Given the description of an element on the screen output the (x, y) to click on. 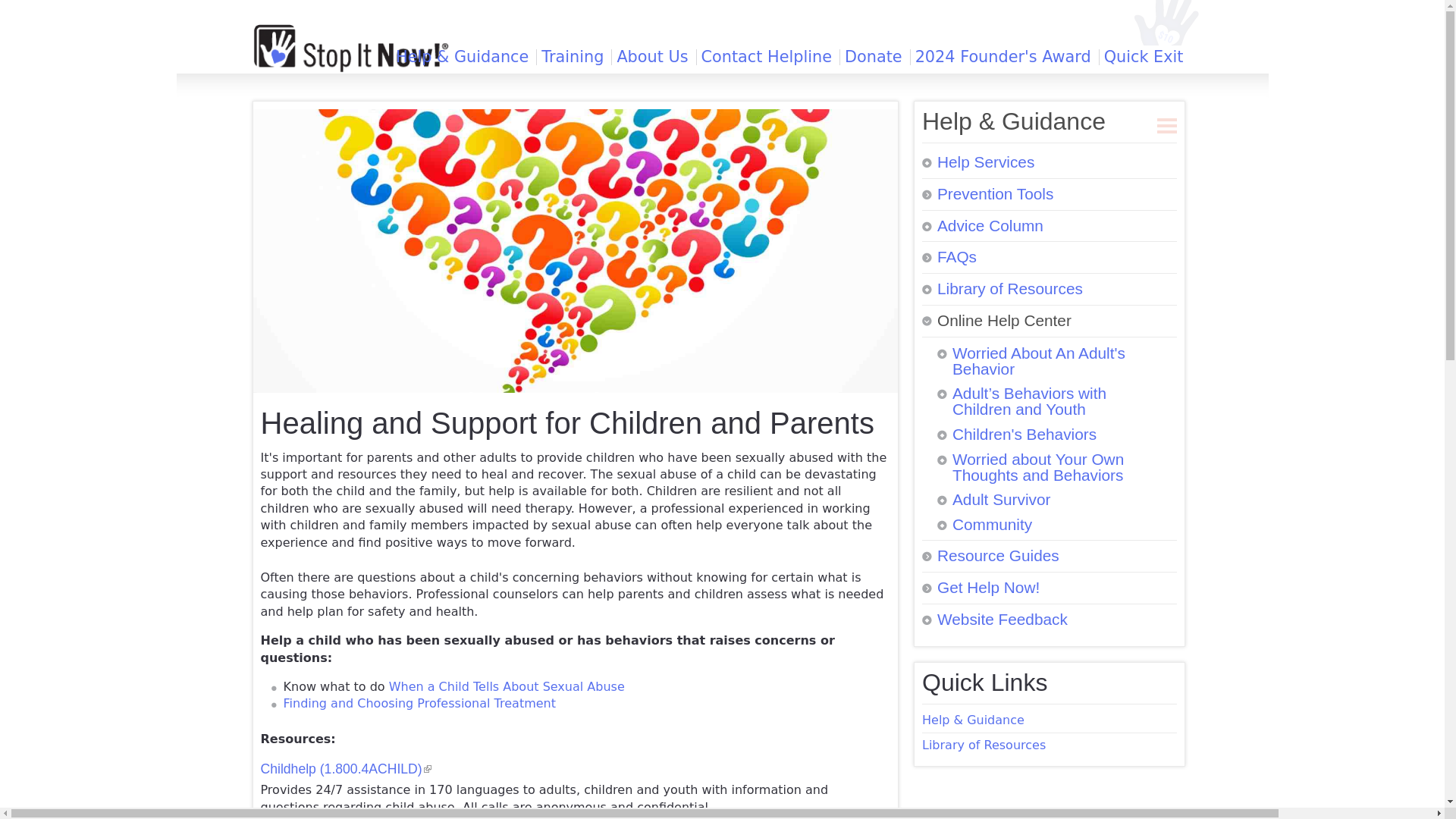
Contact Helpline (766, 57)
